Given the description of an element on the screen output the (x, y) to click on. 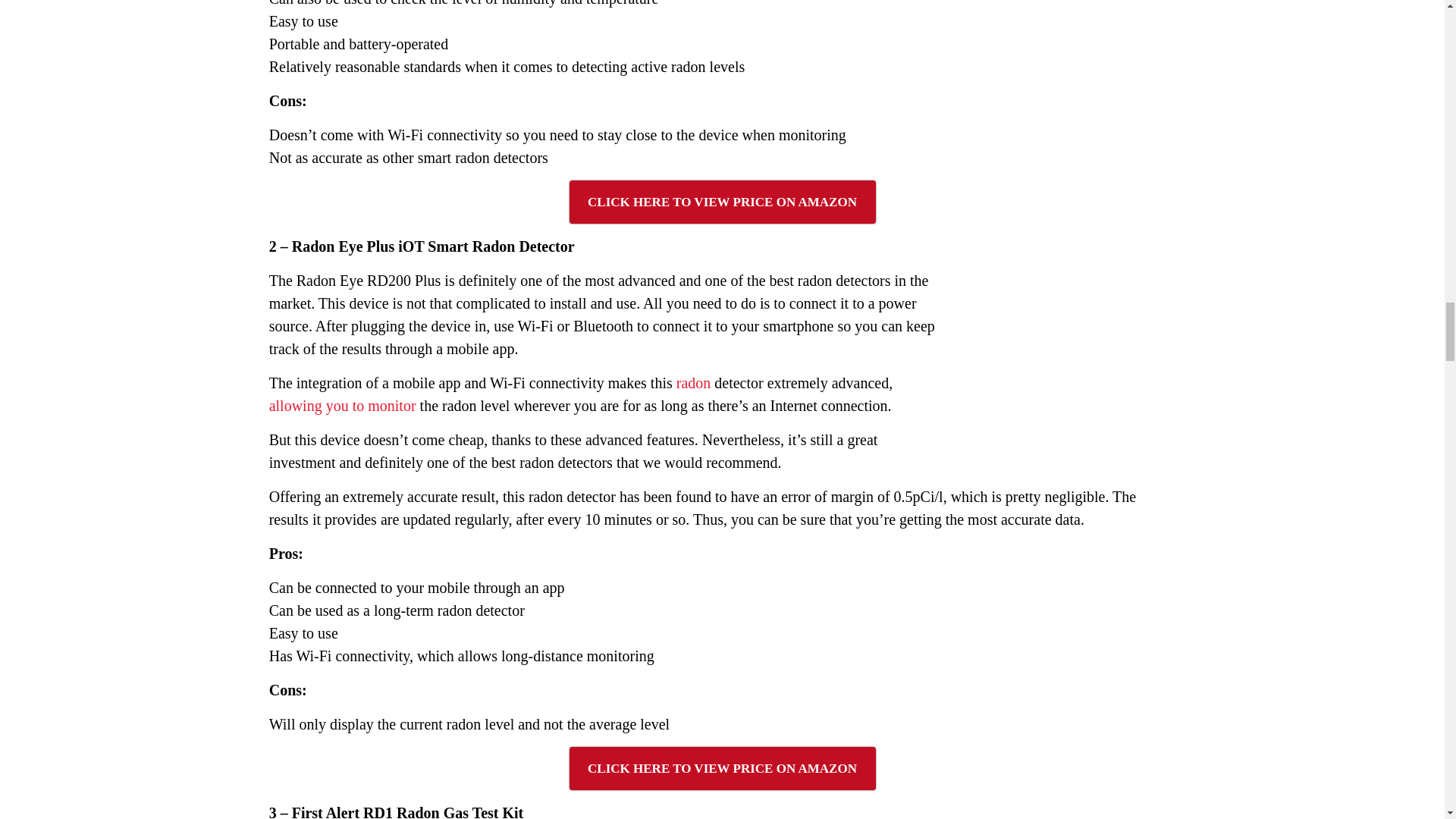
radon (694, 382)
CLICK HERE TO VIEW PRICE ON AMAZON (722, 768)
CLICK HERE TO VIEW PRICE ON AMAZON (722, 201)
allowing you to monitor (342, 405)
